Given the description of an element on the screen output the (x, y) to click on. 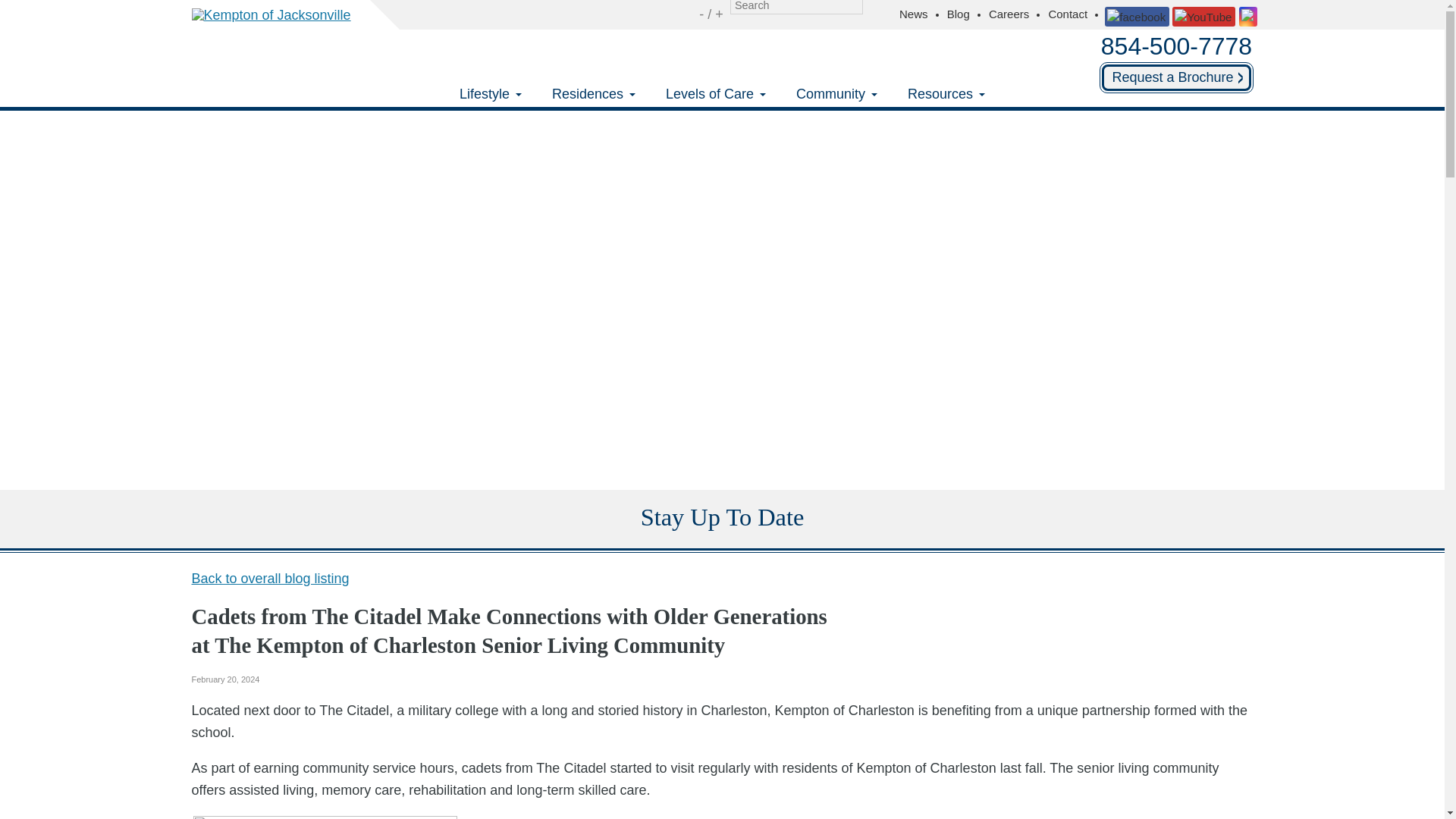
Contact (1074, 13)
Careers (1015, 13)
News (920, 13)
Blog (964, 13)
